Given the description of an element on the screen output the (x, y) to click on. 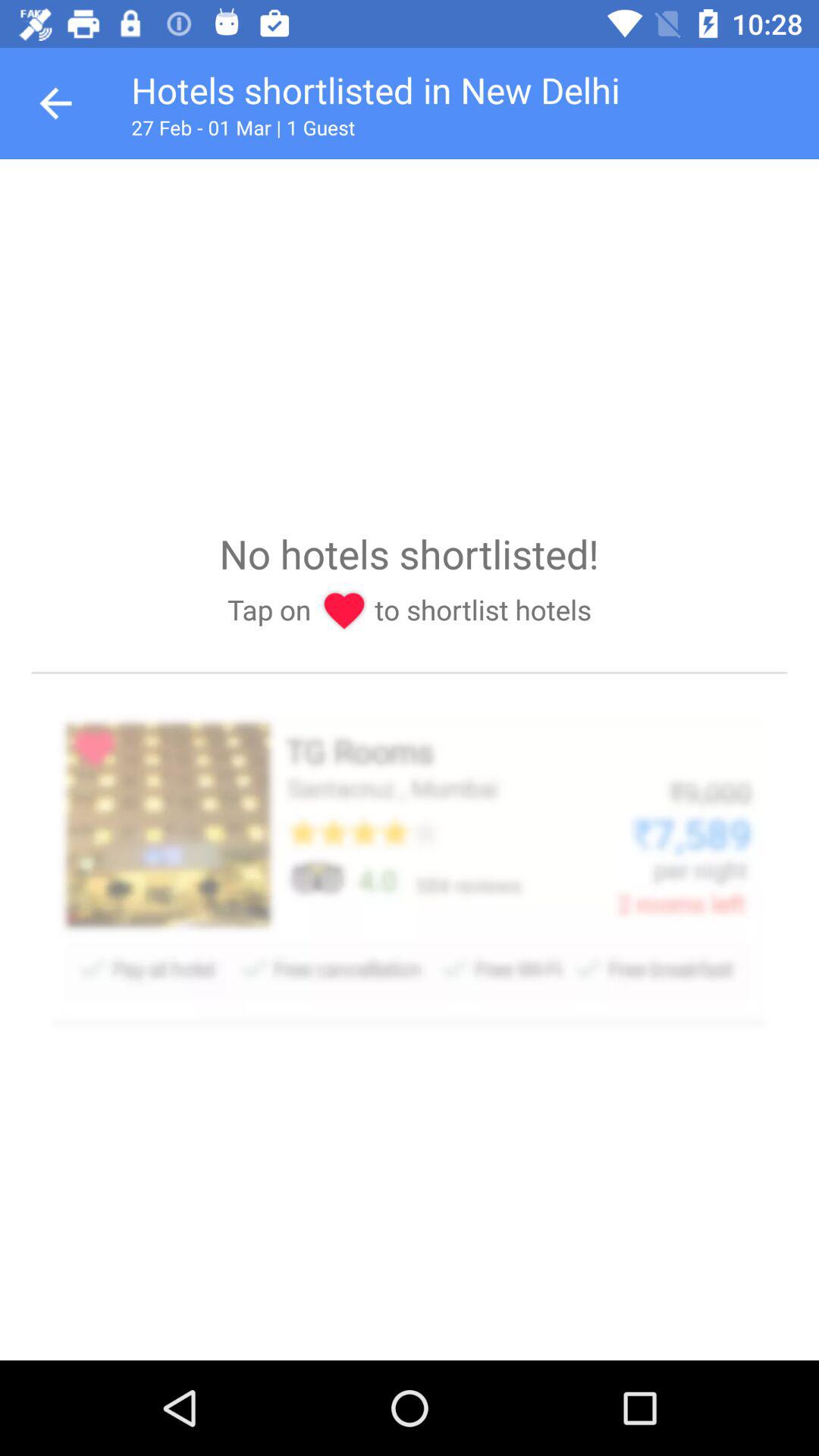
turn off icon next to the hotels shortlisted in (55, 103)
